Given the description of an element on the screen output the (x, y) to click on. 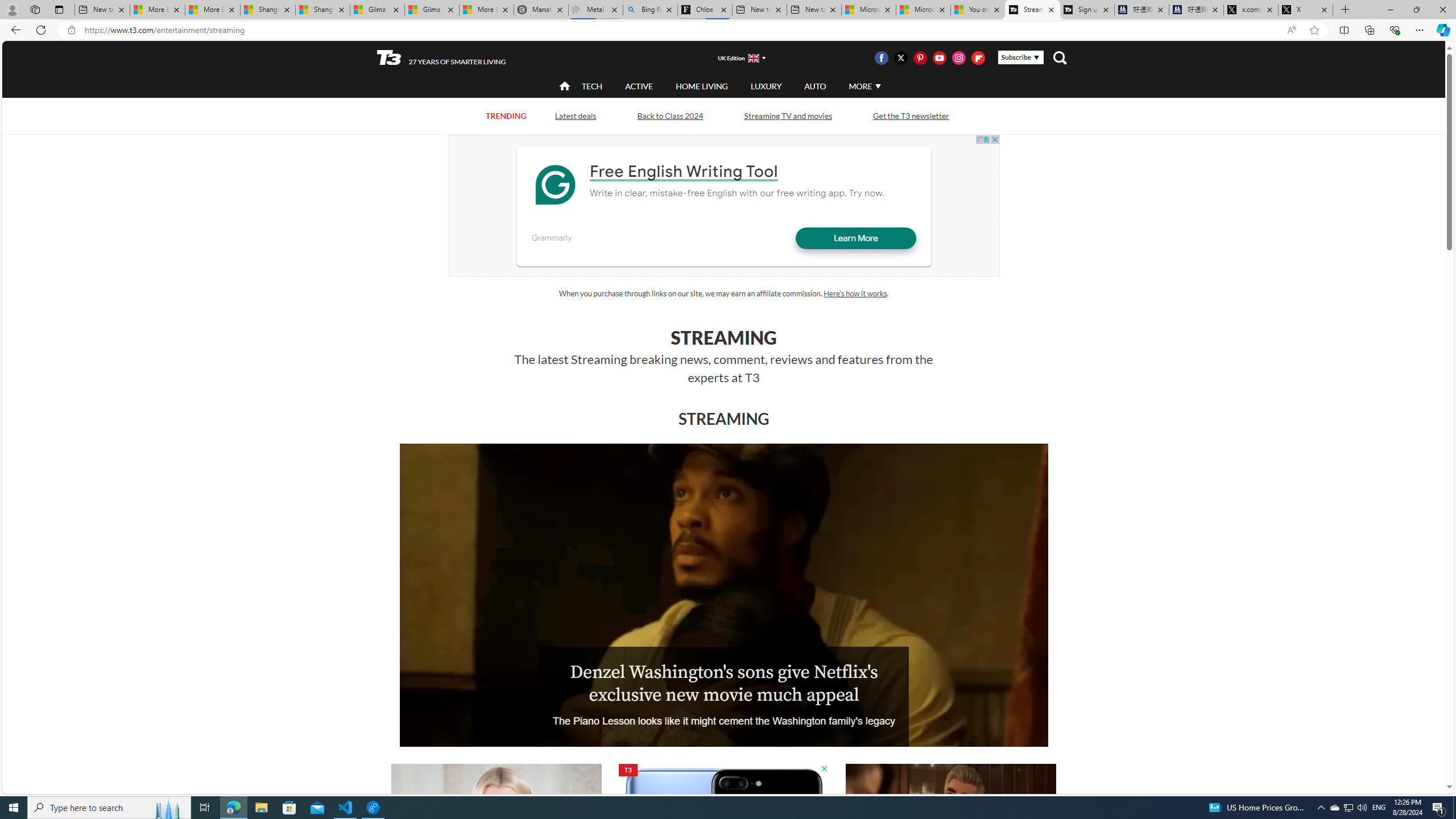
Class: navigation__search (1059, 57)
The Piano Lesson (723, 594)
HOME LIVING (701, 85)
T3 (389, 56)
Back to Class 2024 (669, 115)
Visit us on Instagram (958, 57)
home (564, 86)
TECH (591, 86)
Latest deals (575, 115)
